Given the description of an element on the screen output the (x, y) to click on. 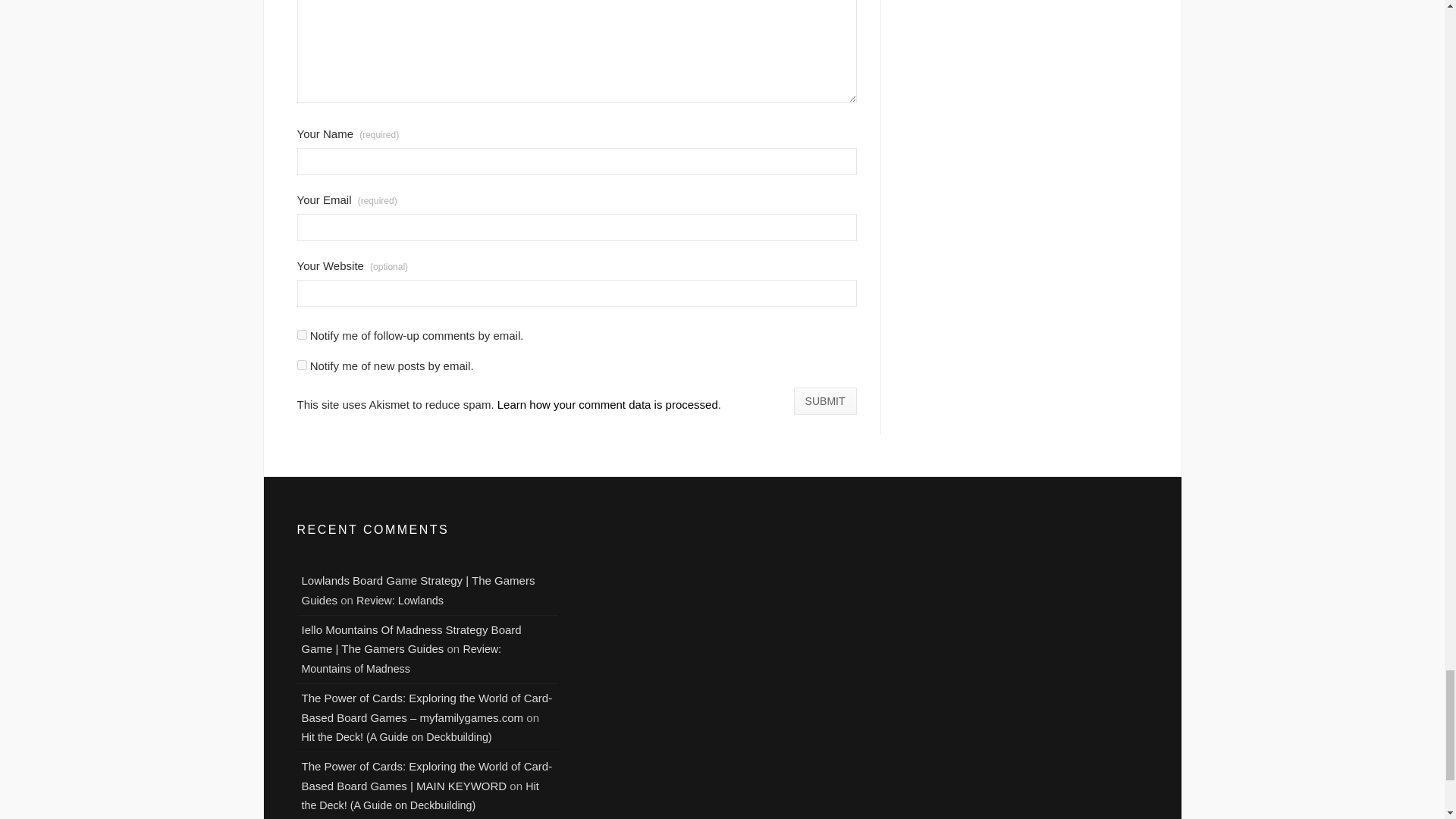
subscribe (302, 365)
subscribe (302, 334)
Submit (825, 400)
